Given the description of an element on the screen output the (x, y) to click on. 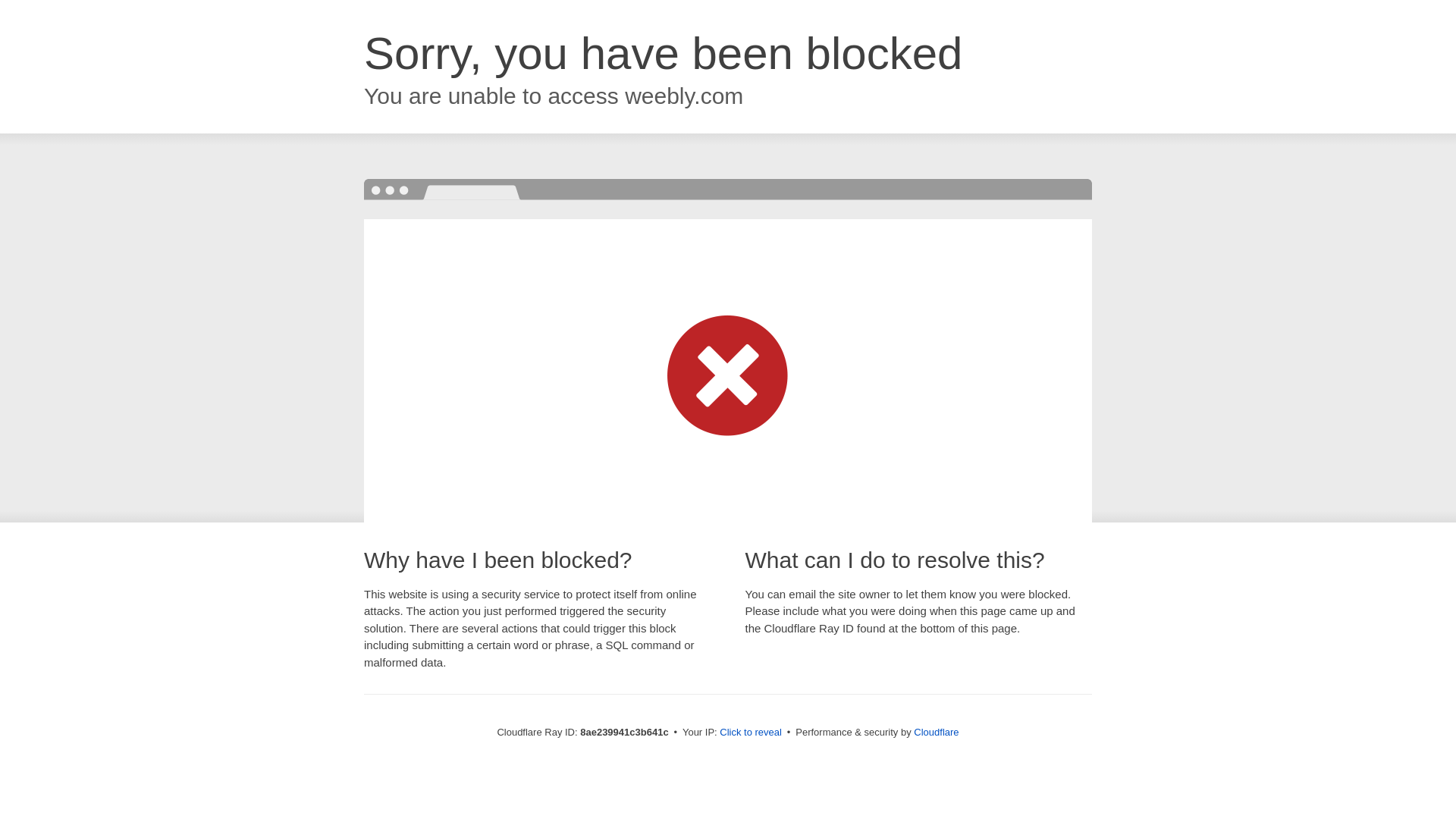
Click to reveal (750, 732)
Cloudflare (936, 731)
